Given the description of an element on the screen output the (x, y) to click on. 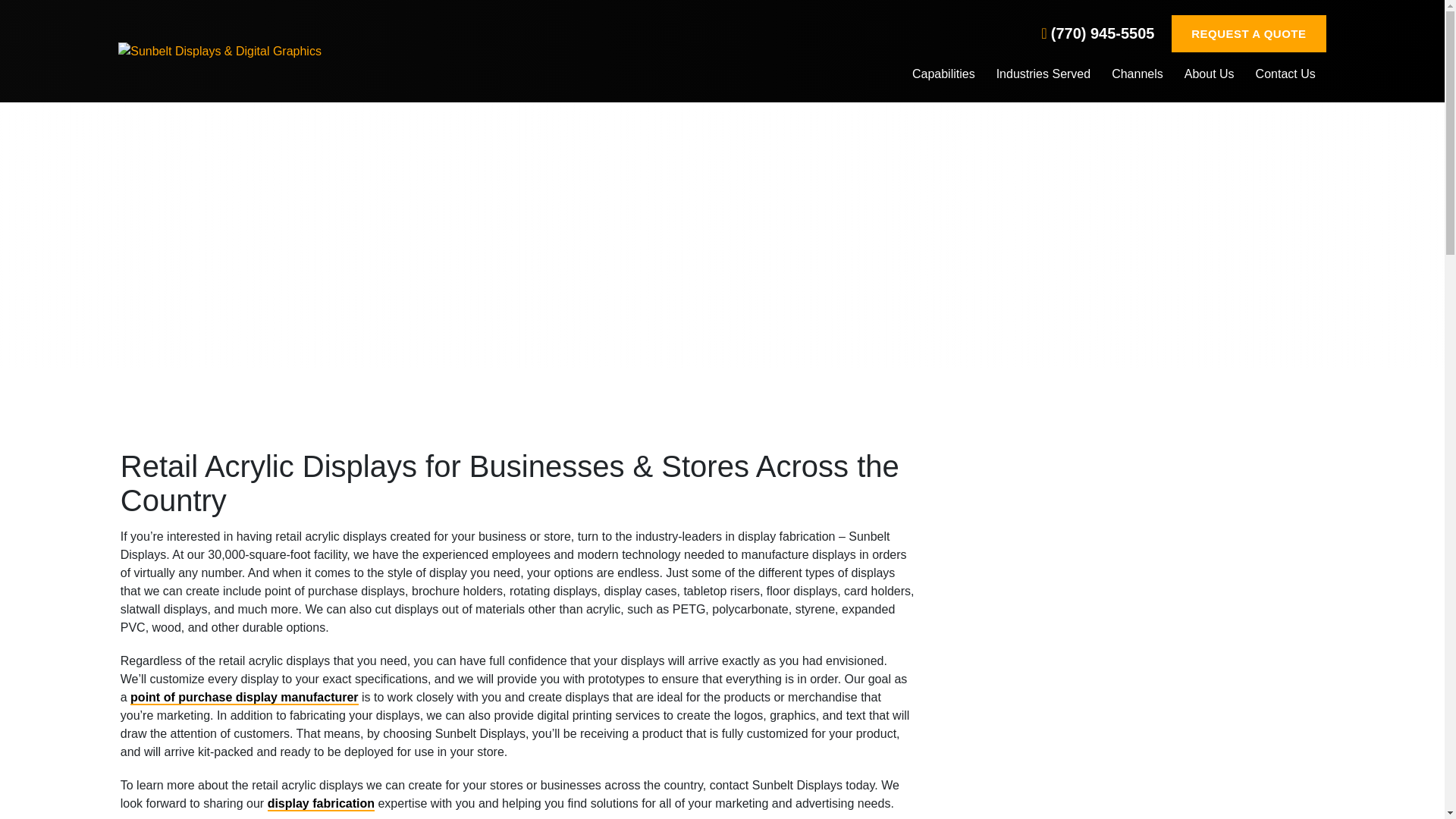
point of purchase display manufacturer (244, 697)
REQUEST A QUOTE (1249, 33)
display fabrication (320, 802)
Capabilities (943, 75)
Submit (1131, 699)
Industries Served (1042, 75)
About Us (1209, 75)
Contact Us (1285, 75)
Channels (1137, 75)
